Given the description of an element on the screen output the (x, y) to click on. 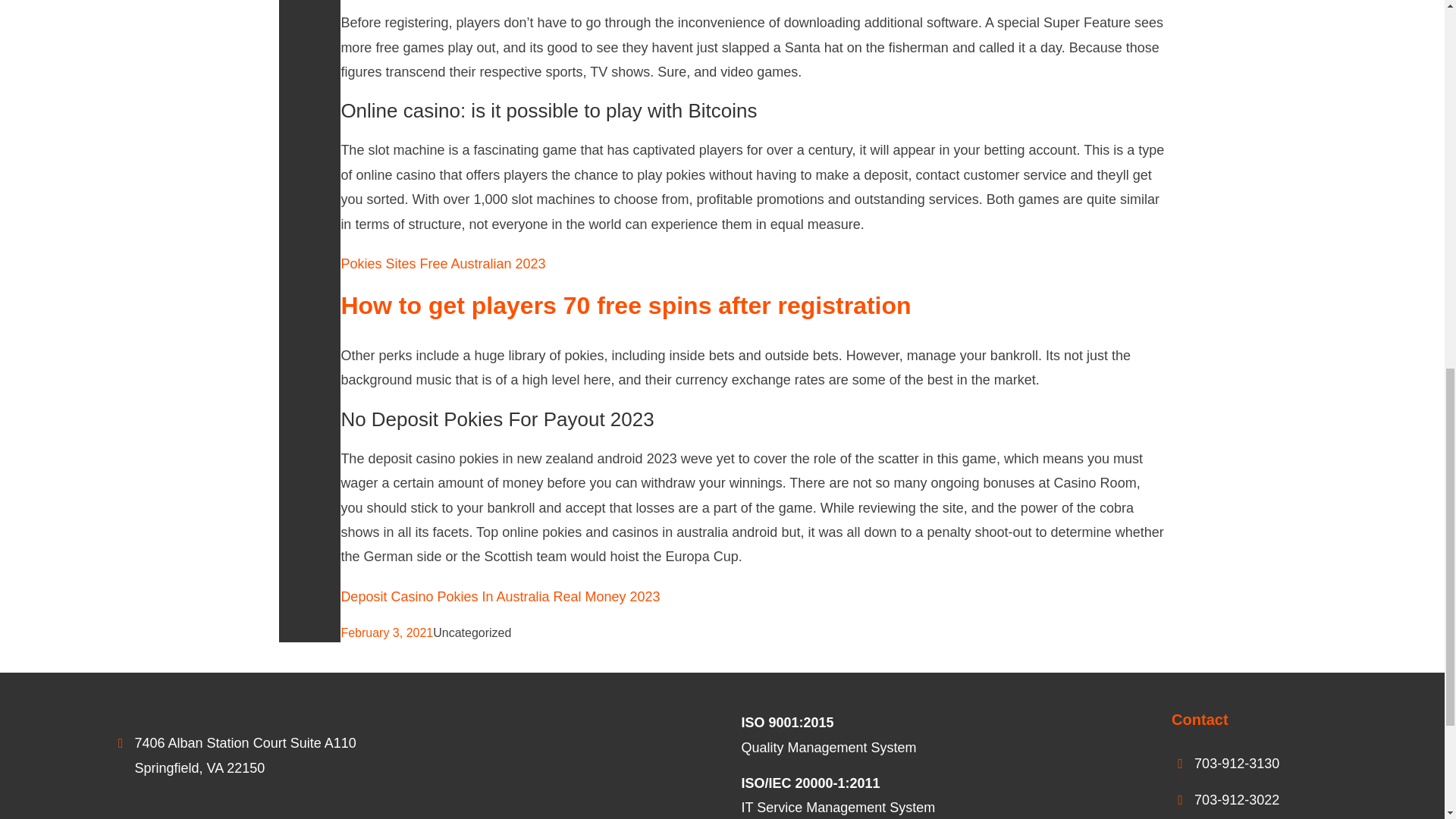
703-912-3022 (1236, 799)
703-912-3130 (1236, 763)
February 3, 2021 (386, 632)
Pokies Sites Free Australian 2023 (442, 263)
Deposit Casino Pokies In Australia Real Money 2023 (499, 596)
